Given the description of an element on the screen output the (x, y) to click on. 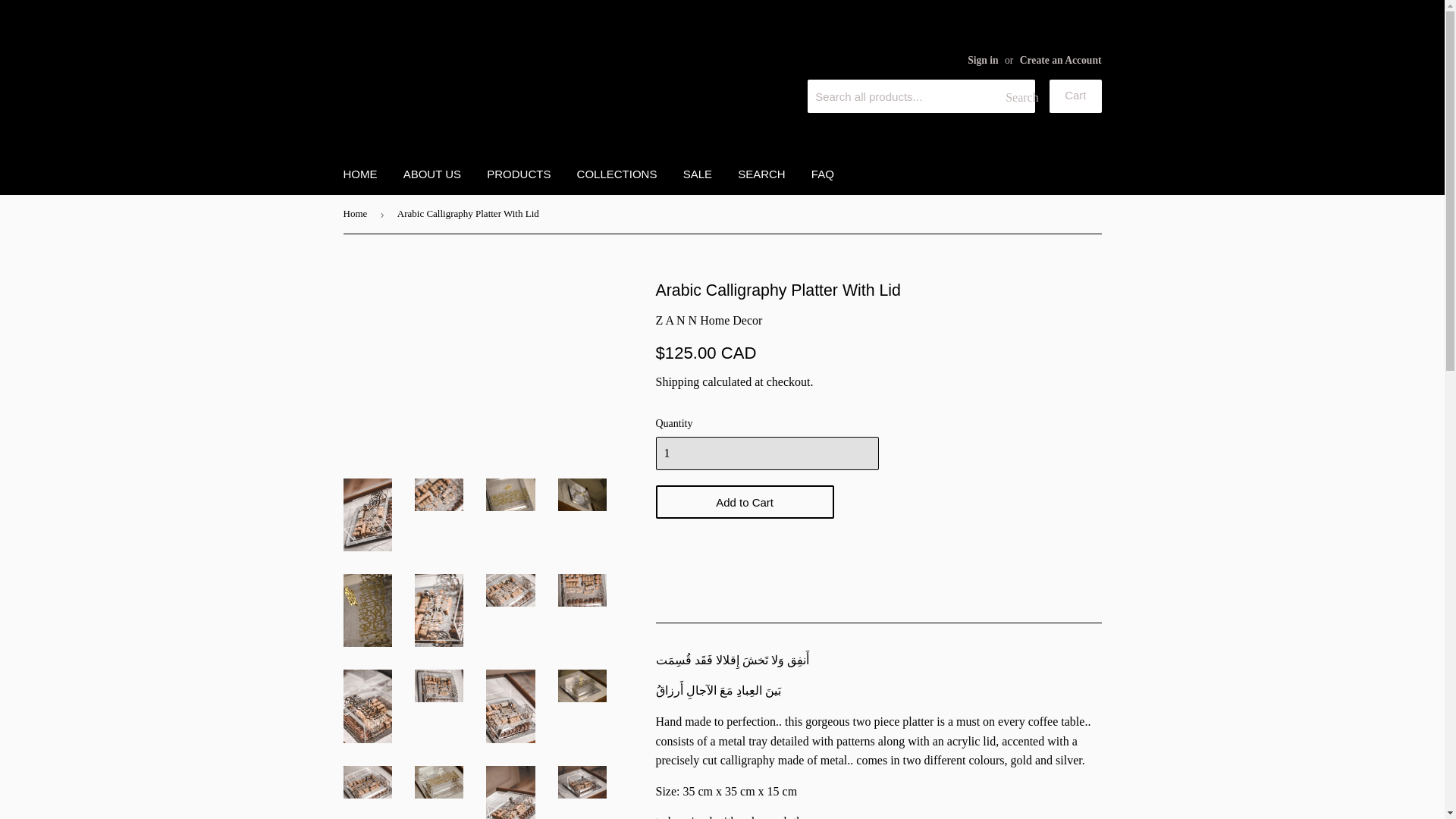
PRODUCTS (519, 173)
Cart (1074, 96)
Create an Account (1061, 60)
ABOUT US (431, 173)
Search (1018, 97)
Sign in (982, 60)
COLLECTIONS (617, 173)
Back to the frontpage (357, 213)
1 (766, 453)
HOME (359, 173)
